Given the description of an element on the screen output the (x, y) to click on. 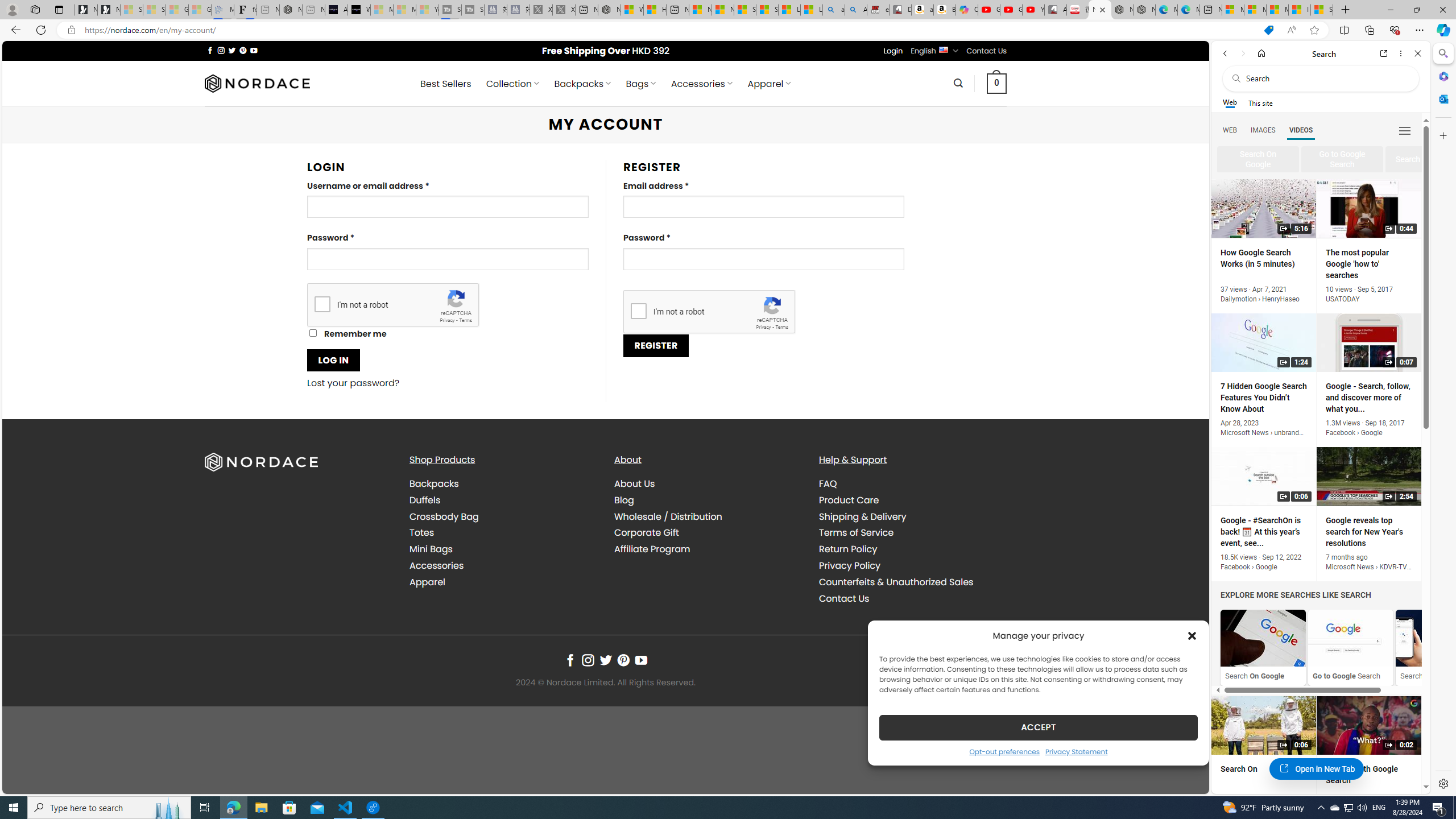
Corporate Gift (646, 532)
Mini Bags (502, 549)
Open link in new tab (1383, 53)
Search Filter, WEB (1230, 129)
Search On Google (1263, 647)
I'm not a robot (638, 310)
Class: cmplz-close (1192, 635)
Blog (708, 499)
Privacy (763, 326)
